Given the description of an element on the screen output the (x, y) to click on. 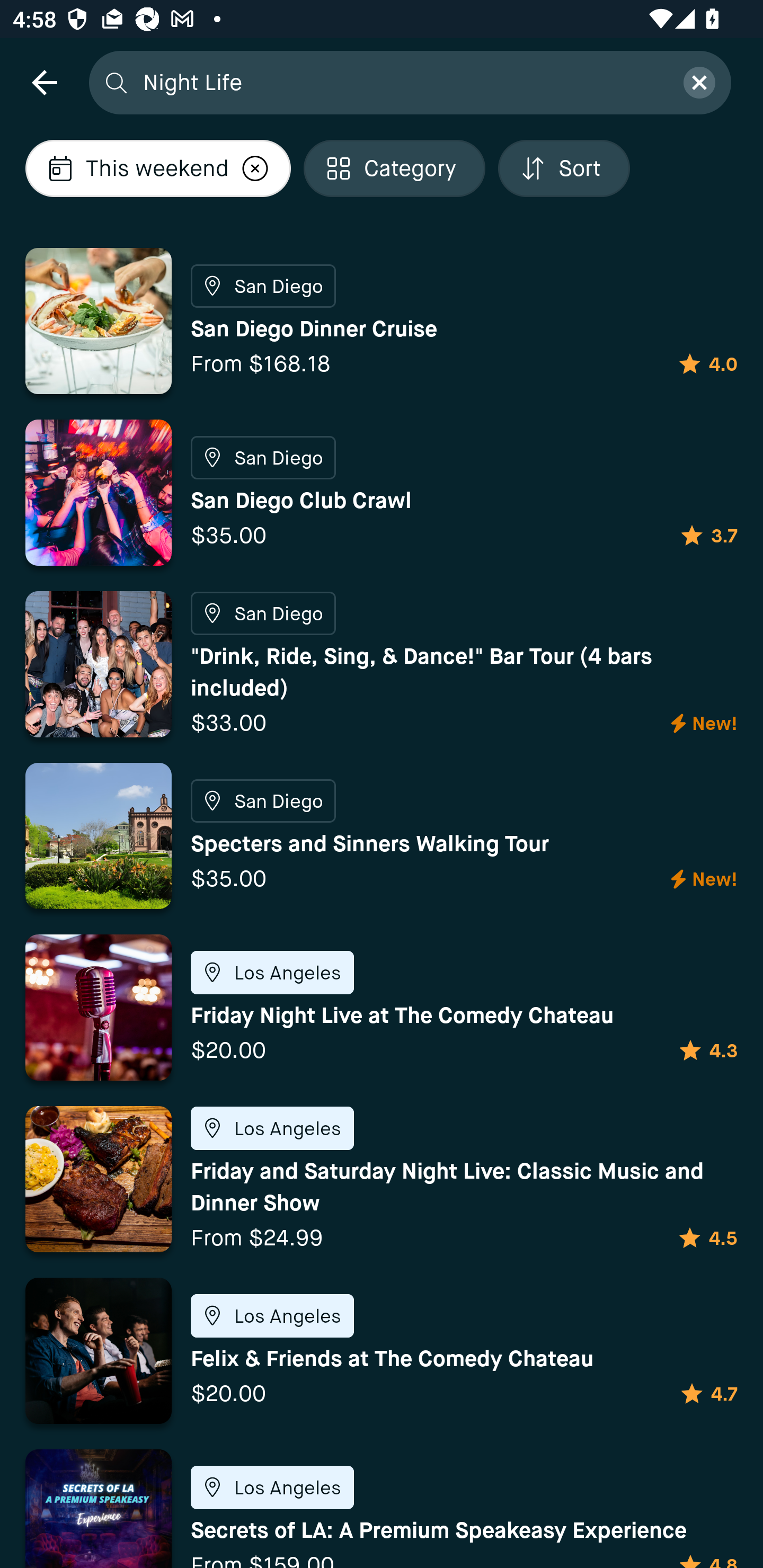
navigation icon (44, 81)
Night Life (402, 81)
Localized description (255, 168)
Localized description Category (394, 168)
Localized description Sort (564, 168)
